Given the description of an element on the screen output the (x, y) to click on. 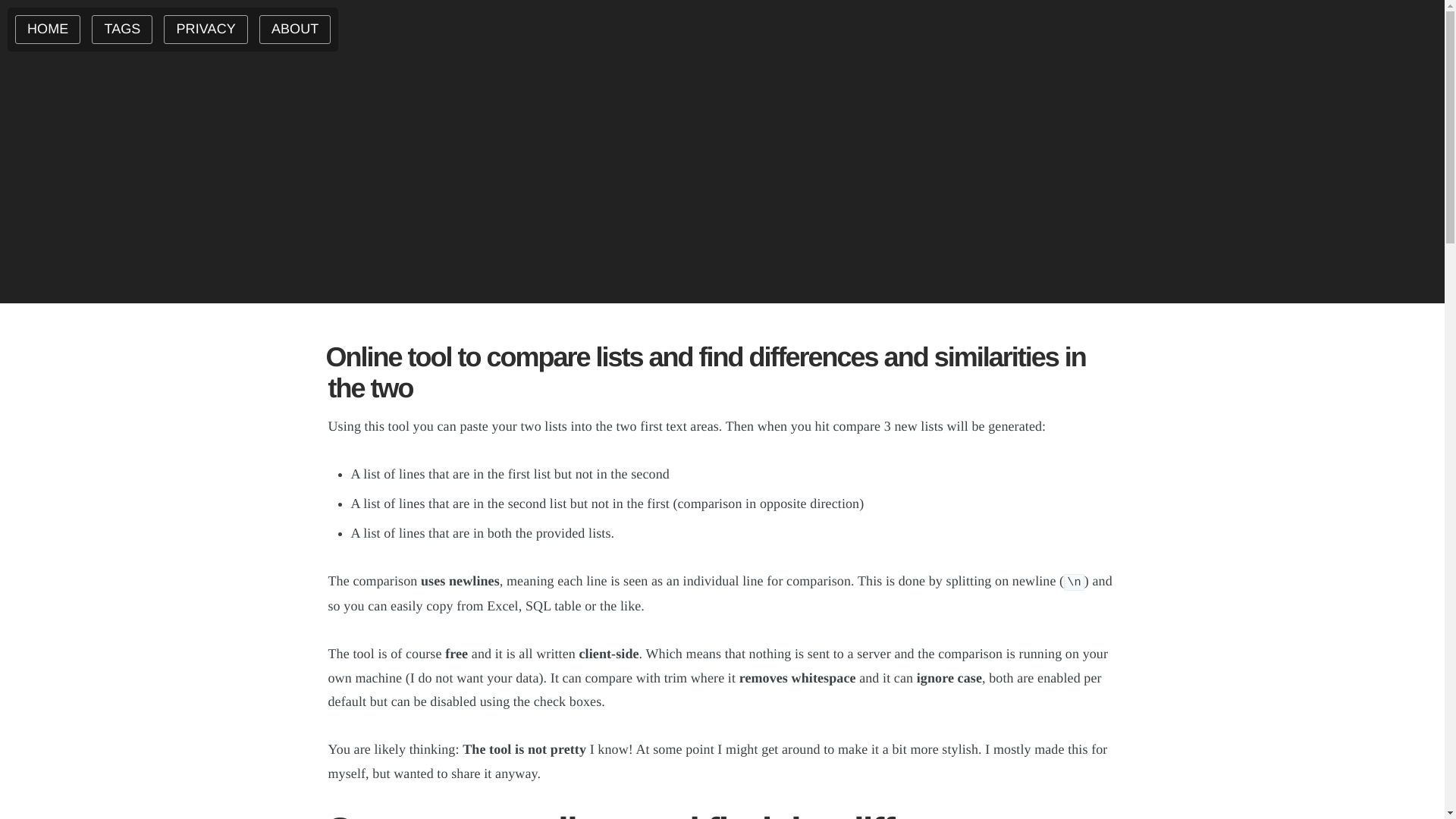
HOME (47, 29)
PRIVACY (205, 29)
TAGS (121, 29)
ABOUT (295, 29)
